Given the description of an element on the screen output the (x, y) to click on. 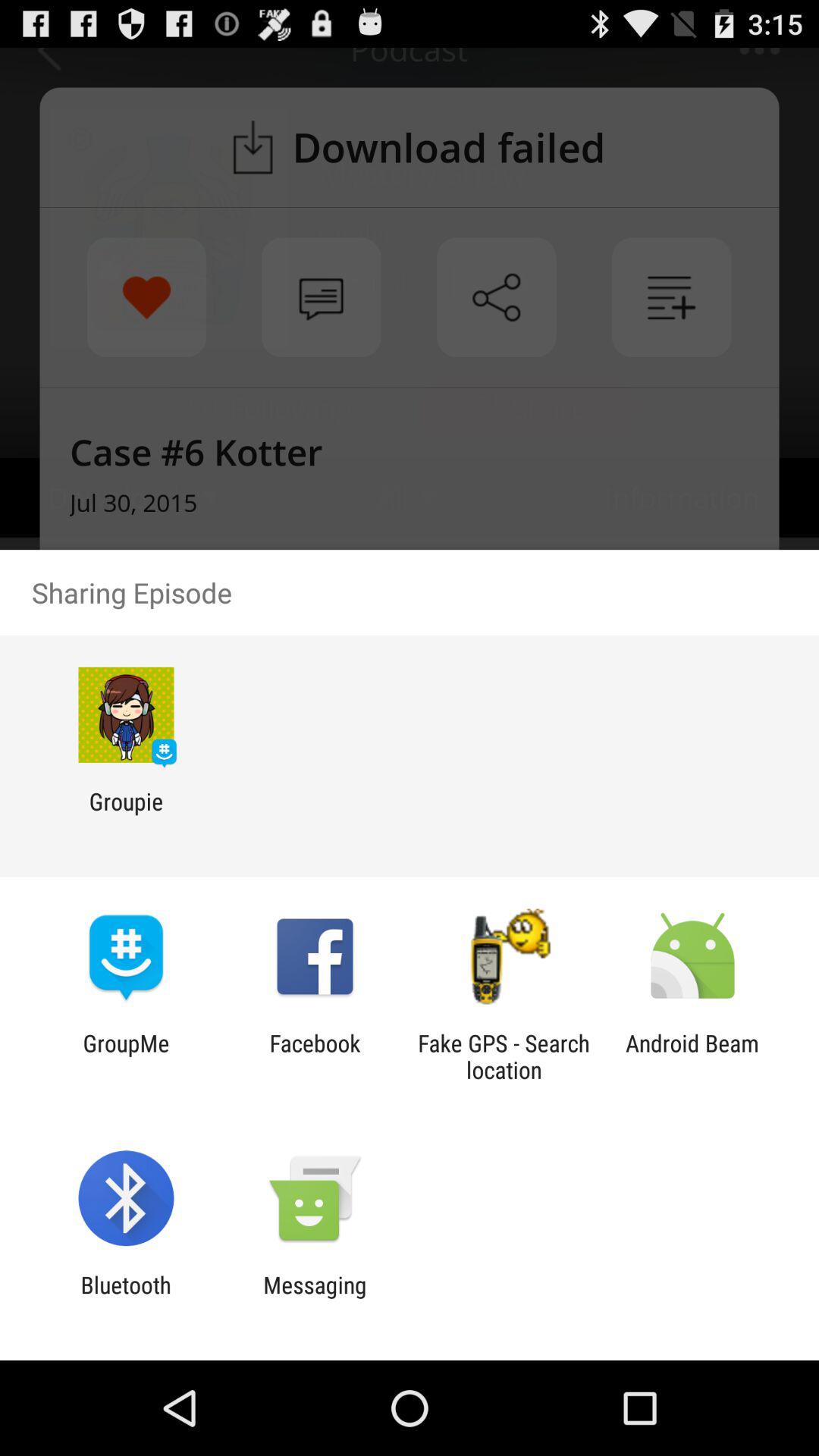
click the app to the left of the messaging app (125, 1298)
